Given the description of an element on the screen output the (x, y) to click on. 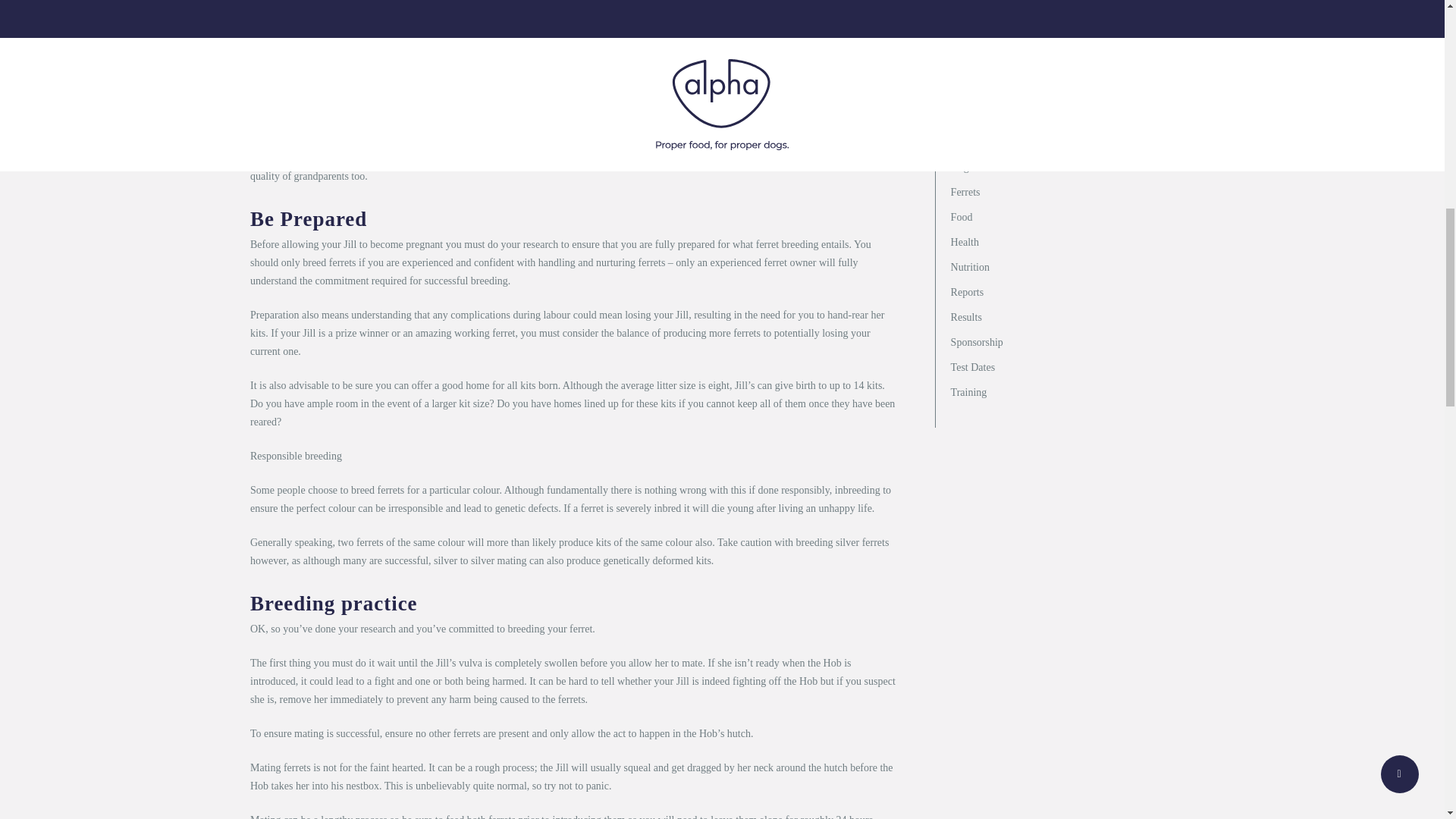
Ferrets (1071, 191)
Competition (1071, 141)
Dog Welfare (1071, 167)
Alpha Feeds (1071, 91)
Food (1071, 217)
Breeds (1071, 116)
